Given the description of an element on the screen output the (x, y) to click on. 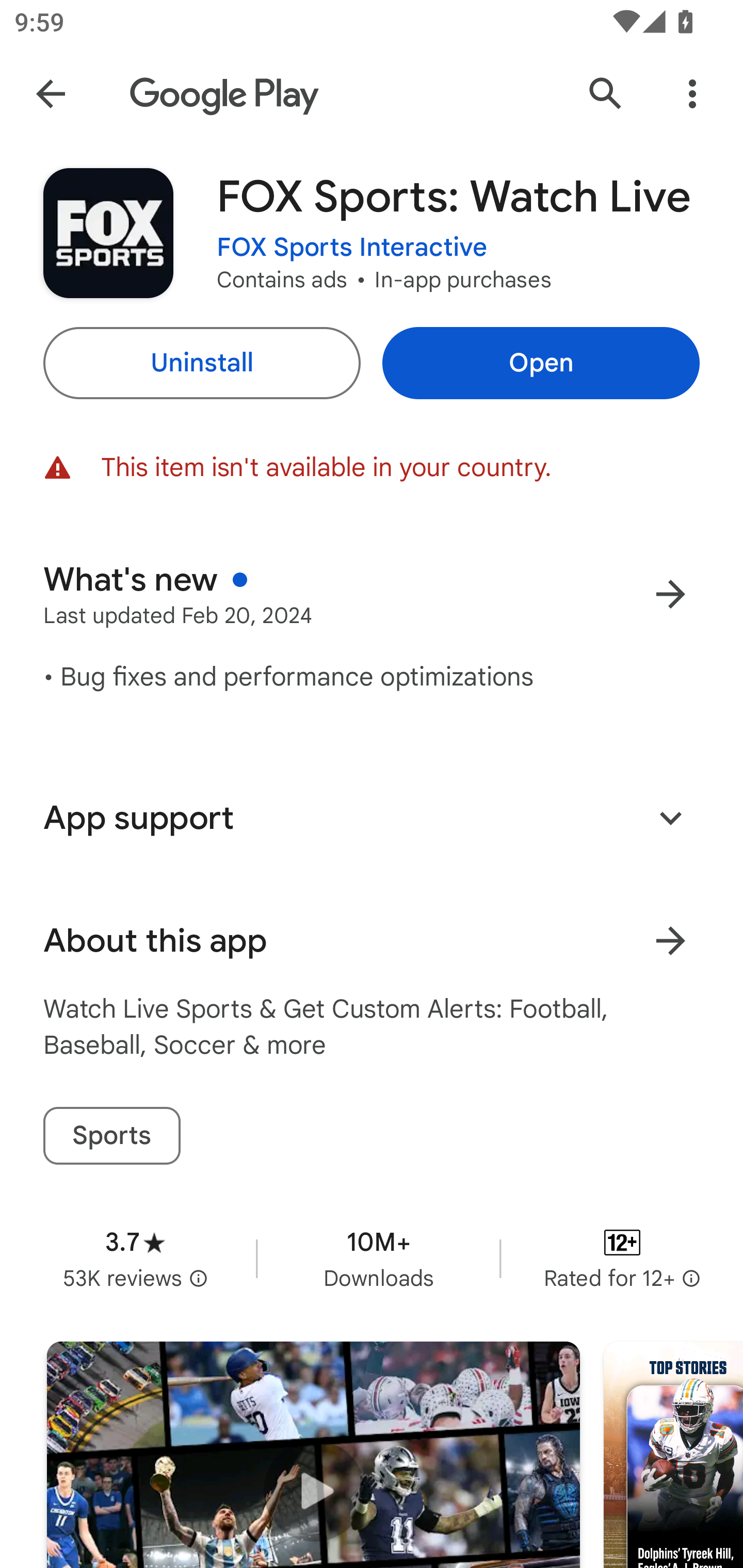
Navigate up (50, 93)
Search Google Play (605, 93)
More Options (692, 93)
FOX Sports Interactive (351, 247)
Uninstall (201, 362)
Open (540, 362)
More results for What's new (670, 594)
App support Expand (371, 817)
Expand (670, 817)
About this app Learn more About this app (371, 940)
Learn more About this app (670, 940)
Sports tag (111, 1135)
Average rating 3.7 stars in 53 thousand reviews (135, 1258)
Content rating Rated for 12+ (622, 1258)
Play trailer for "FOX Sports: Watch Live" (313, 1455)
